Given the description of an element on the screen output the (x, y) to click on. 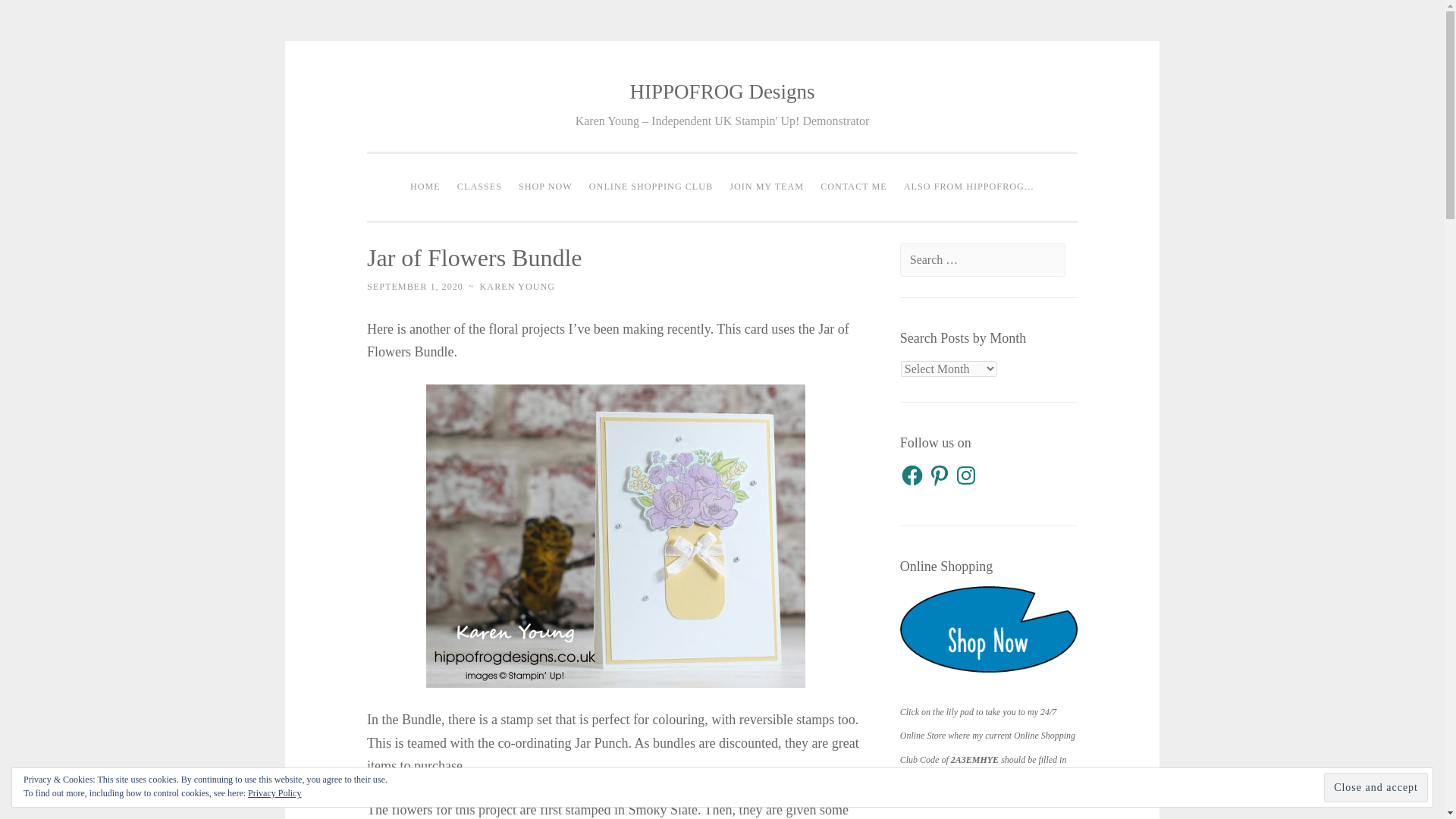
SEPTEMBER 1, 2020 (414, 286)
Close and accept (1375, 787)
CLASSES (478, 186)
ONLINE SHOPPING CLUB (650, 186)
HOME (424, 186)
KAREN YOUNG (517, 286)
SHOP NOW (545, 186)
JOIN MY TEAM (766, 186)
CONTACT ME (853, 186)
HIPPOFROG Designs (722, 91)
